Given the description of an element on the screen output the (x, y) to click on. 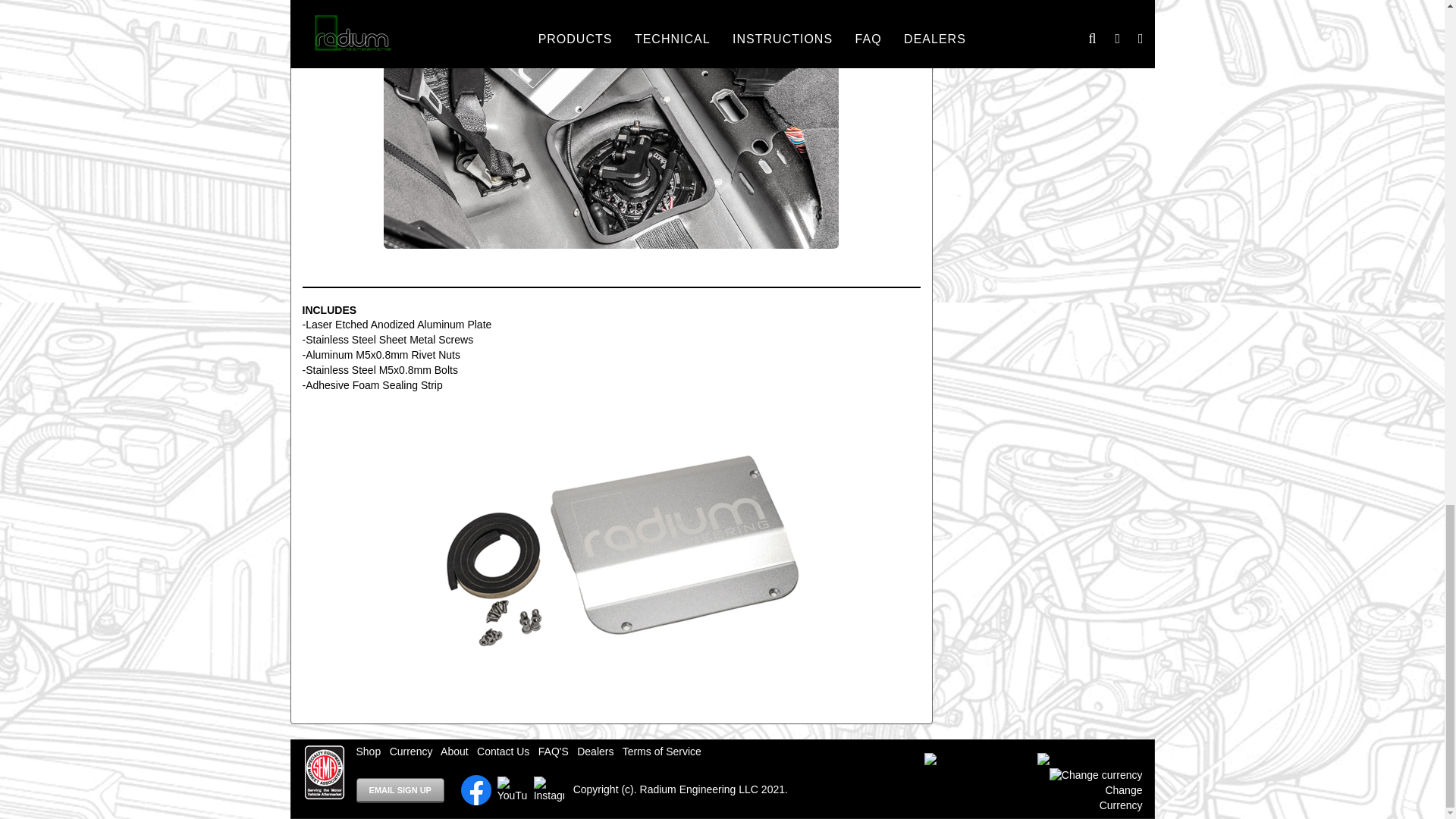
Contact Us (503, 751)
FAQ'S (553, 751)
  EMAIL SIGN UP   (400, 790)
Currency (411, 751)
Shop (368, 751)
Dealers (594, 751)
About (454, 751)
Terms of Service (662, 751)
